Given the description of an element on the screen output the (x, y) to click on. 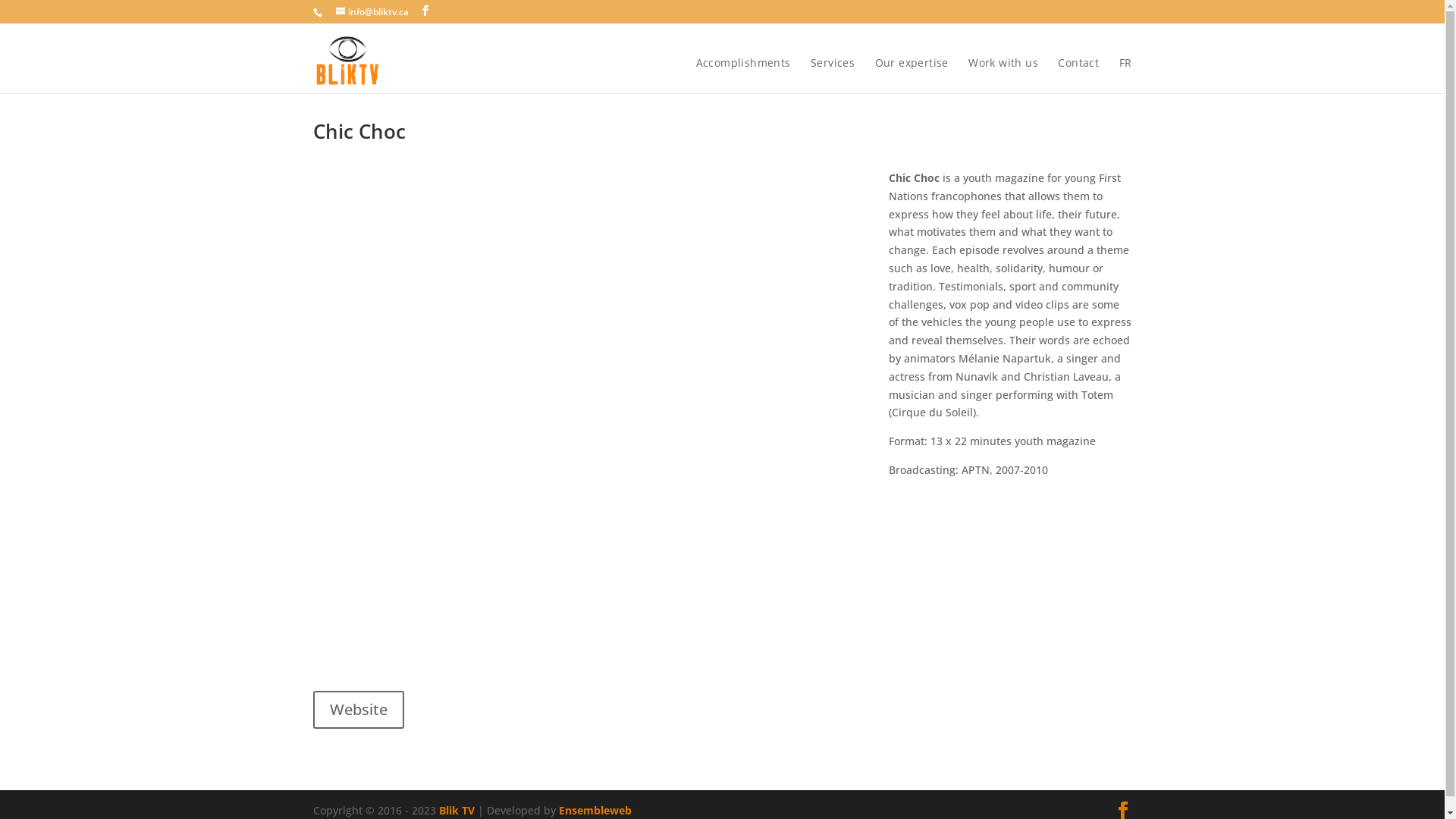
info@bliktv.ca Element type: text (371, 11)
Our expertise Element type: text (911, 75)
Work with us Element type: text (1003, 75)
Ensembleweb Element type: text (594, 810)
BLIKTV_BA_CHIC-CHOC Element type: hover (577, 399)
Accomplishments Element type: text (743, 75)
Blik TV Element type: text (455, 810)
Services Element type: text (832, 75)
Contact Element type: text (1077, 75)
Website Element type: text (357, 709)
FR Element type: text (1125, 75)
